Given the description of an element on the screen output the (x, y) to click on. 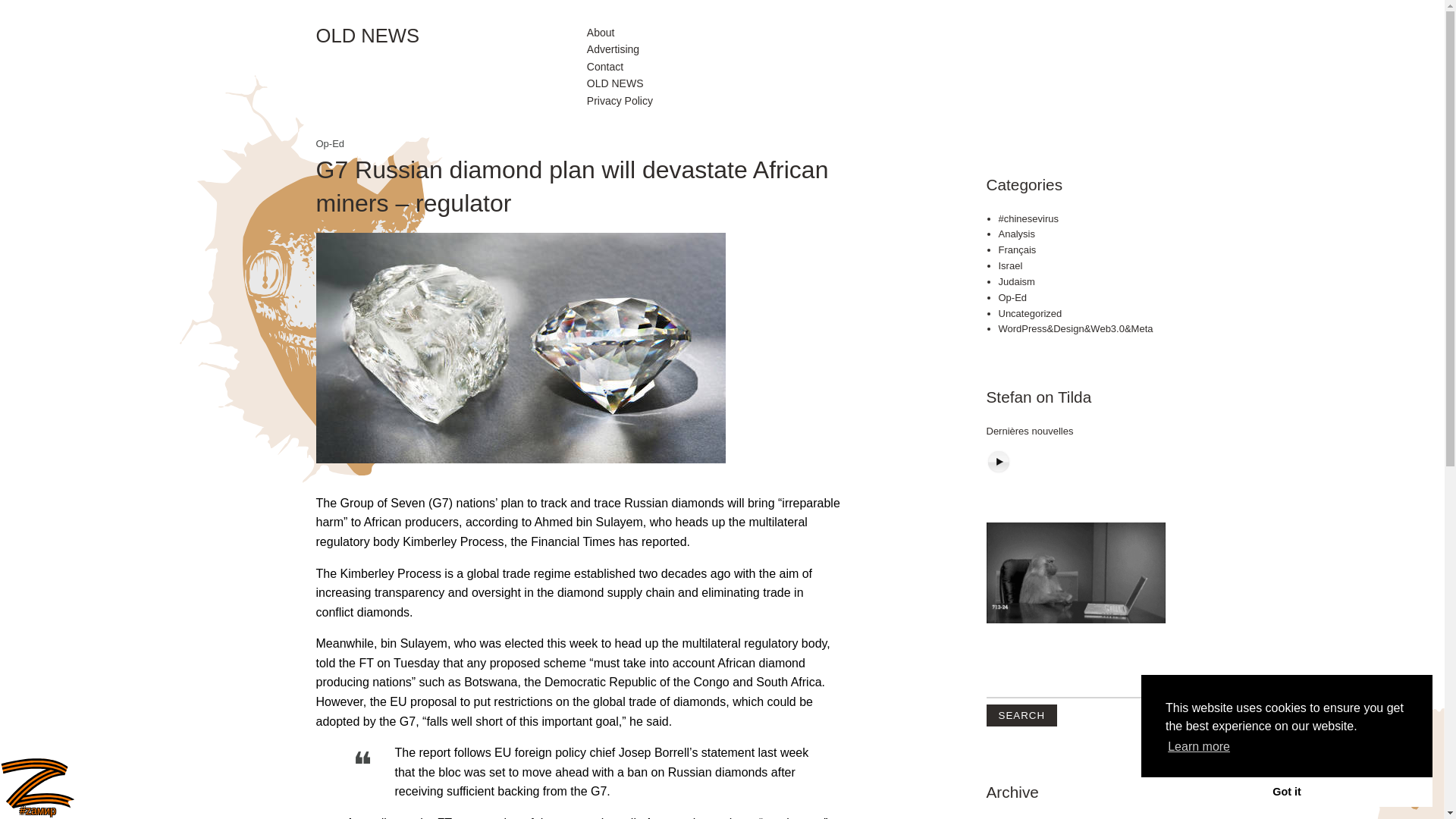
Op-Ed (1011, 297)
Advertising (612, 48)
About (600, 32)
Analysis (1015, 233)
Got it (1286, 791)
Judaism (1015, 281)
OLD NEWS (614, 83)
Search (1021, 715)
Privacy Policy (619, 100)
Israel (1009, 265)
Uncategorized (1029, 313)
OLD NEWS (450, 35)
Search (1021, 715)
Learn more (1198, 746)
Op-Ed (329, 143)
